Given the description of an element on the screen output the (x, y) to click on. 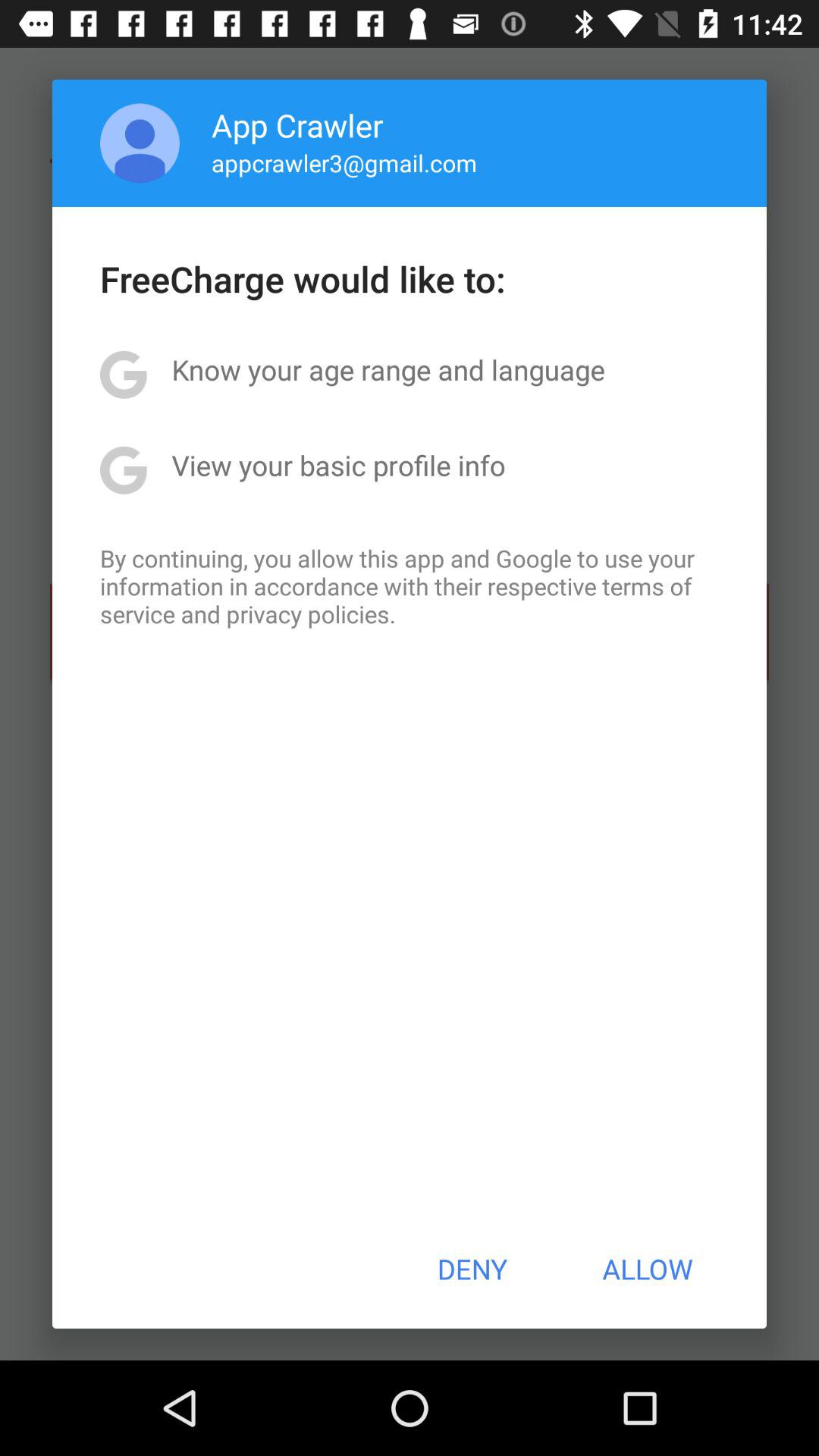
open item at the bottom (471, 1268)
